Given the description of an element on the screen output the (x, y) to click on. 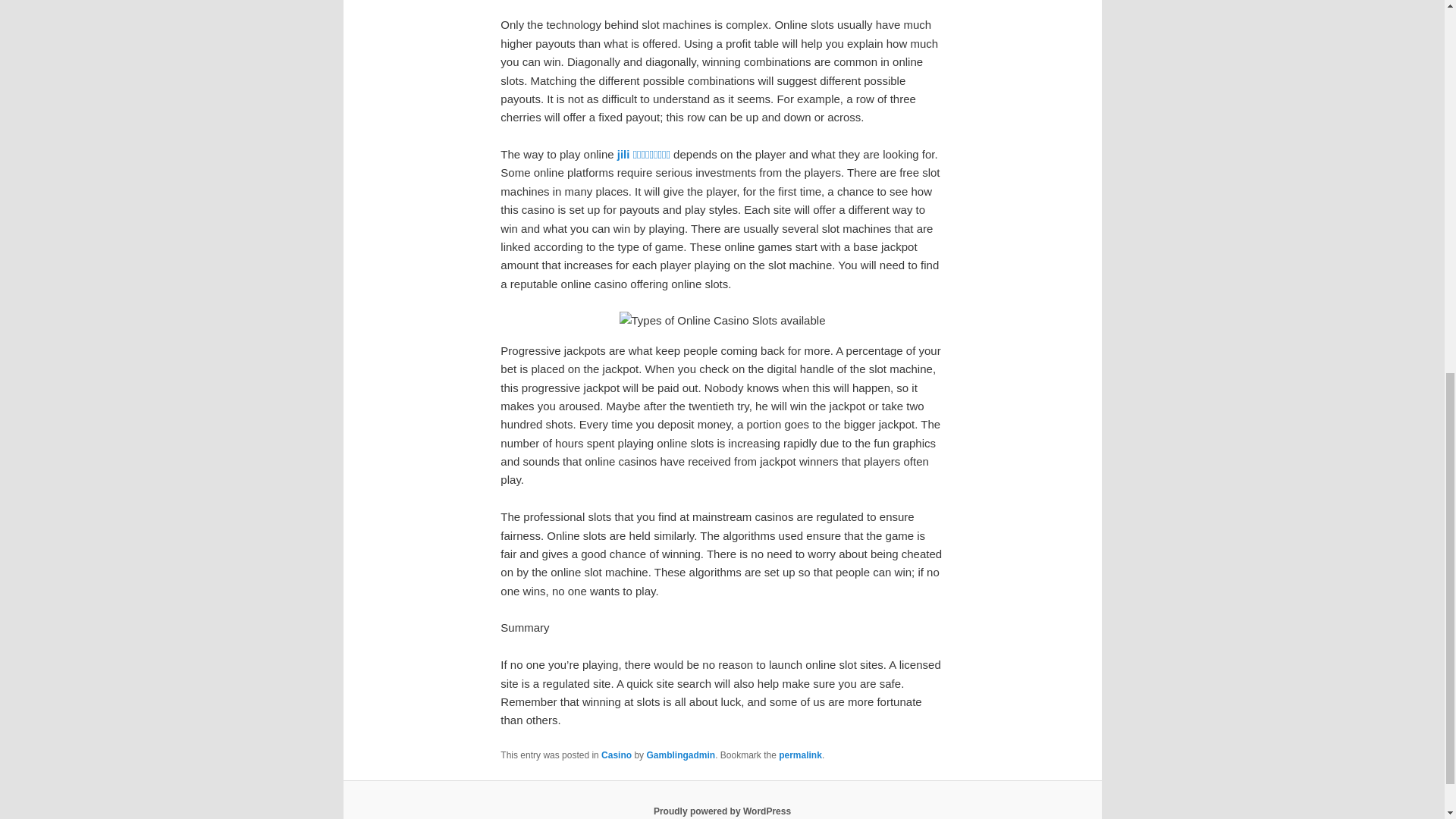
Semantic Personal Publishing Platform (721, 810)
Proudly powered by WordPress (721, 810)
Gamblingadmin (680, 755)
Permalink to How to Understand Online Slot Games Fully (800, 755)
permalink (800, 755)
Casino (616, 755)
